Given the description of an element on the screen output the (x, y) to click on. 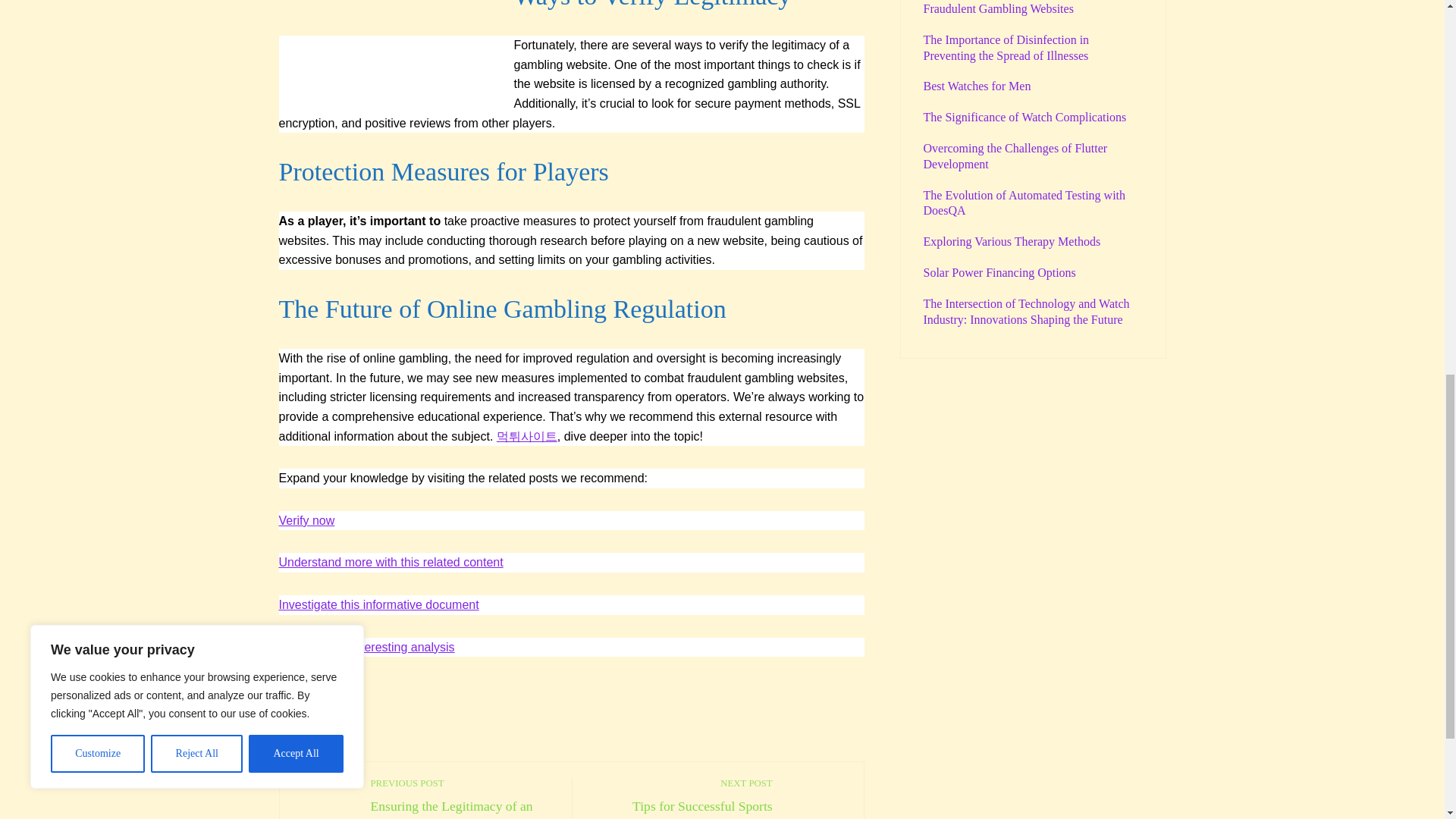
Discover this interesting analysis (680, 798)
Understand more with this related content (366, 646)
Curiosities (391, 562)
Verify now (310, 718)
Investigate this informative document (306, 520)
